Given the description of an element on the screen output the (x, y) to click on. 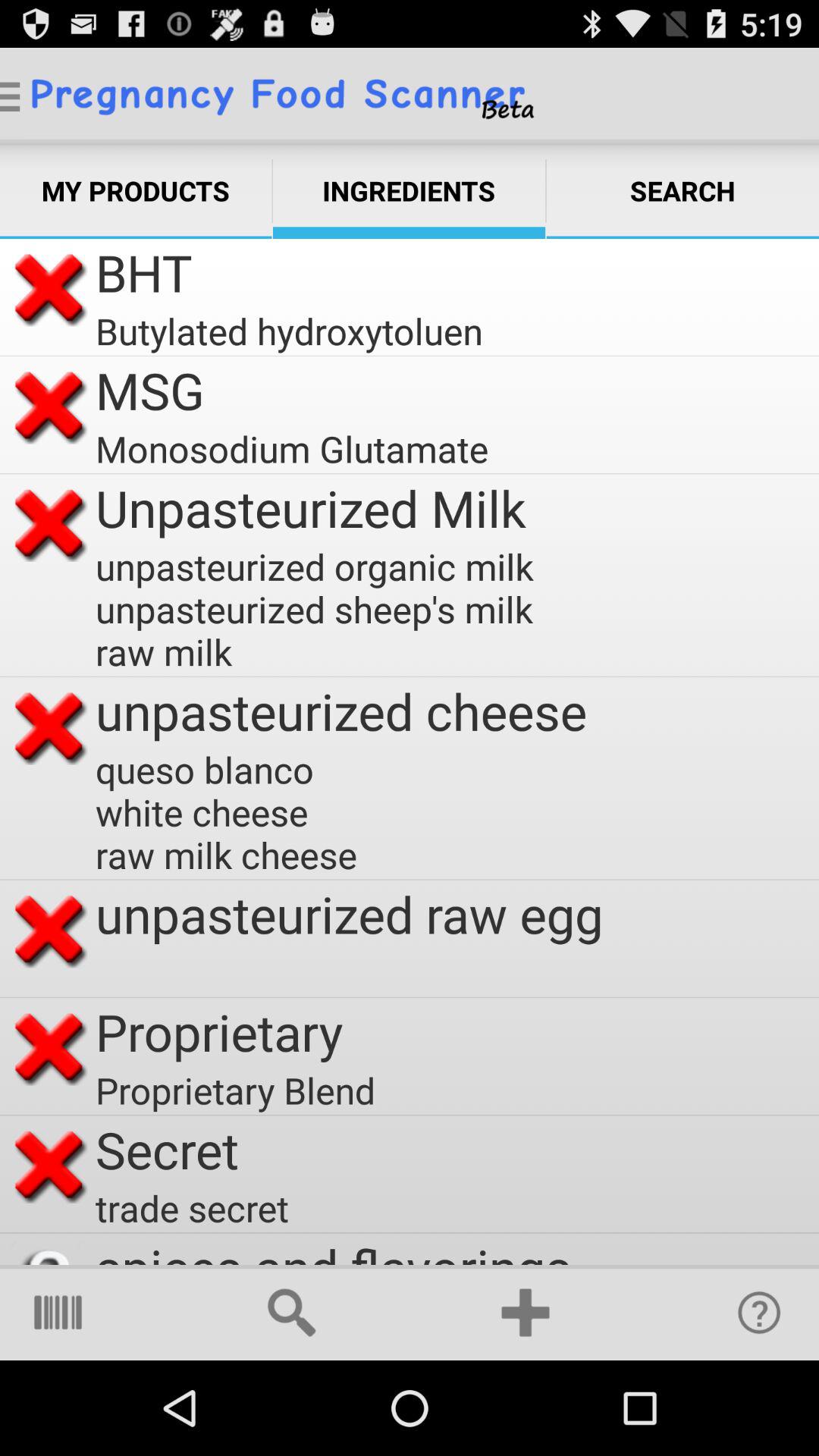
tap the app below search icon (759, 1312)
